Given the description of an element on the screen output the (x, y) to click on. 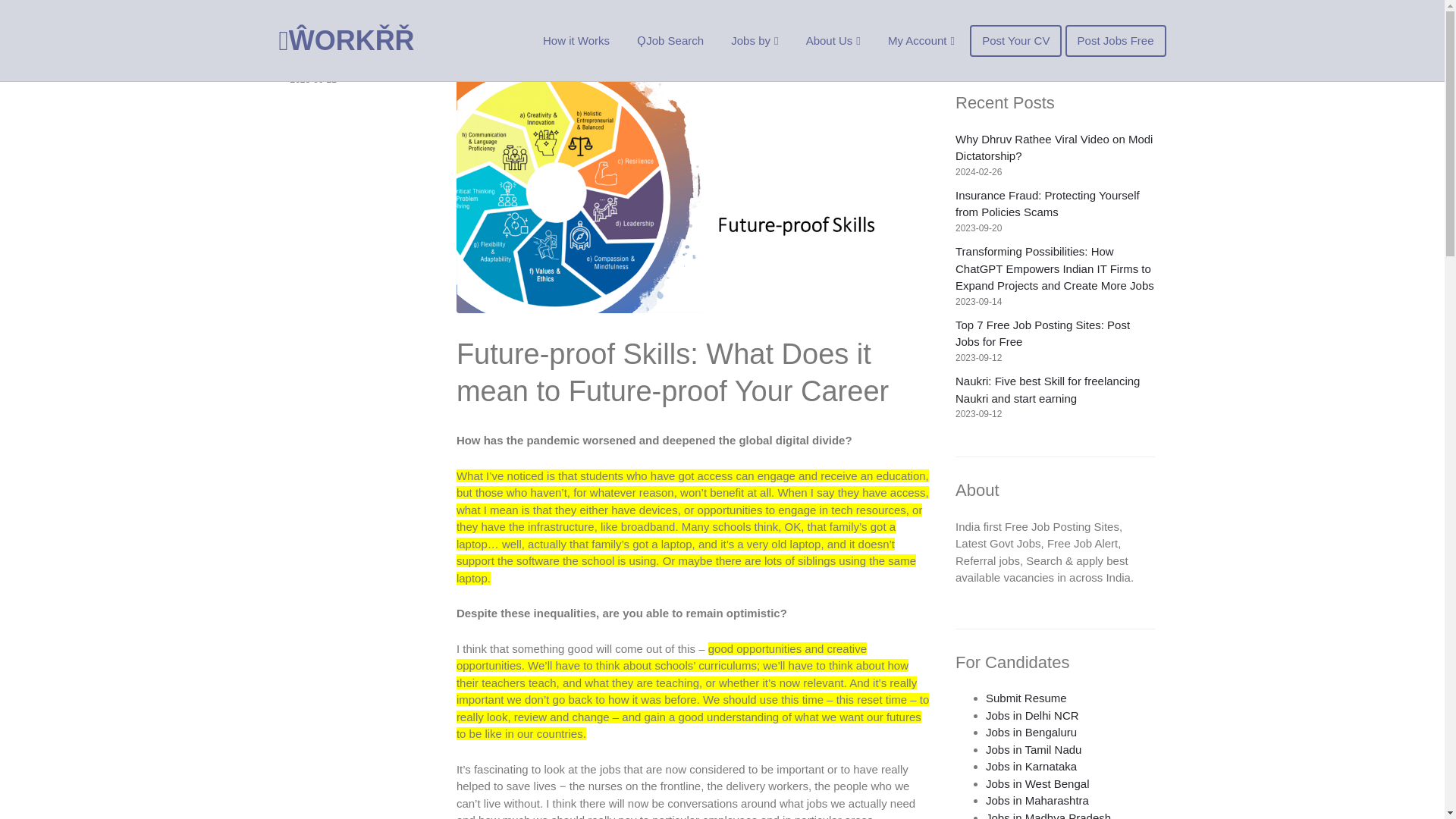
Why Dhruv Rathee Viral Video on Modi Dictatorship? (1054, 147)
Jobs in Delhi NCR (1031, 715)
Top 7 Free Job Posting Sites: Post Jobs for Free (1042, 333)
Jobs by (754, 40)
About Us (832, 40)
Post Jobs Free (1115, 40)
2023-06-21 (312, 79)
Jobs in Bengaluru (1031, 731)
Submit Resume (1026, 697)
My Account (921, 40)
Jobs in Karnataka (1031, 766)
Jobs in Madhya Pradesh (1047, 815)
Insurance Fraud: Protecting Yourself from Policies Scams (1047, 204)
